Given the description of an element on the screen output the (x, y) to click on. 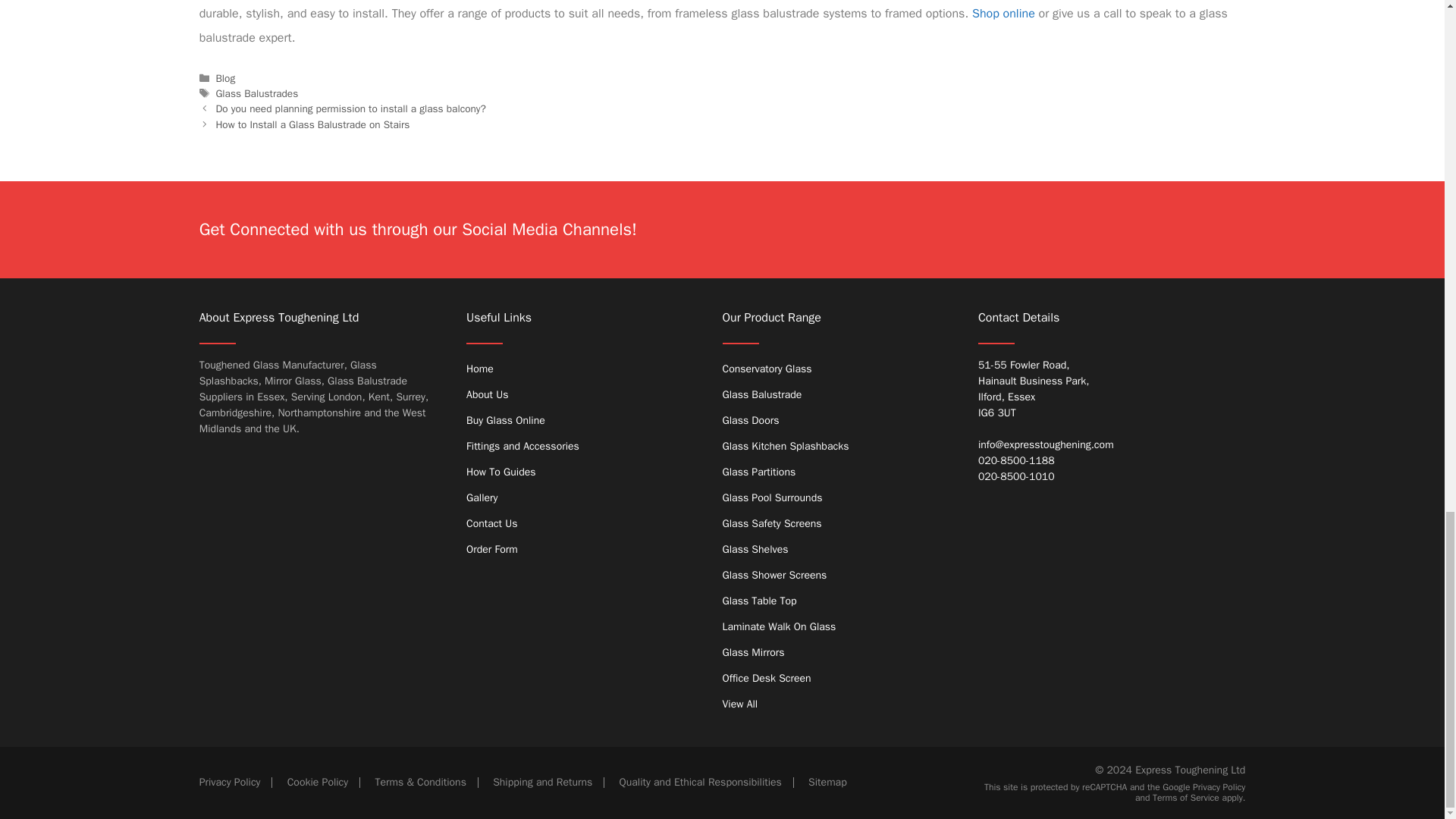
Email us! (1091, 444)
Call us! (1091, 460)
